Given the description of an element on the screen output the (x, y) to click on. 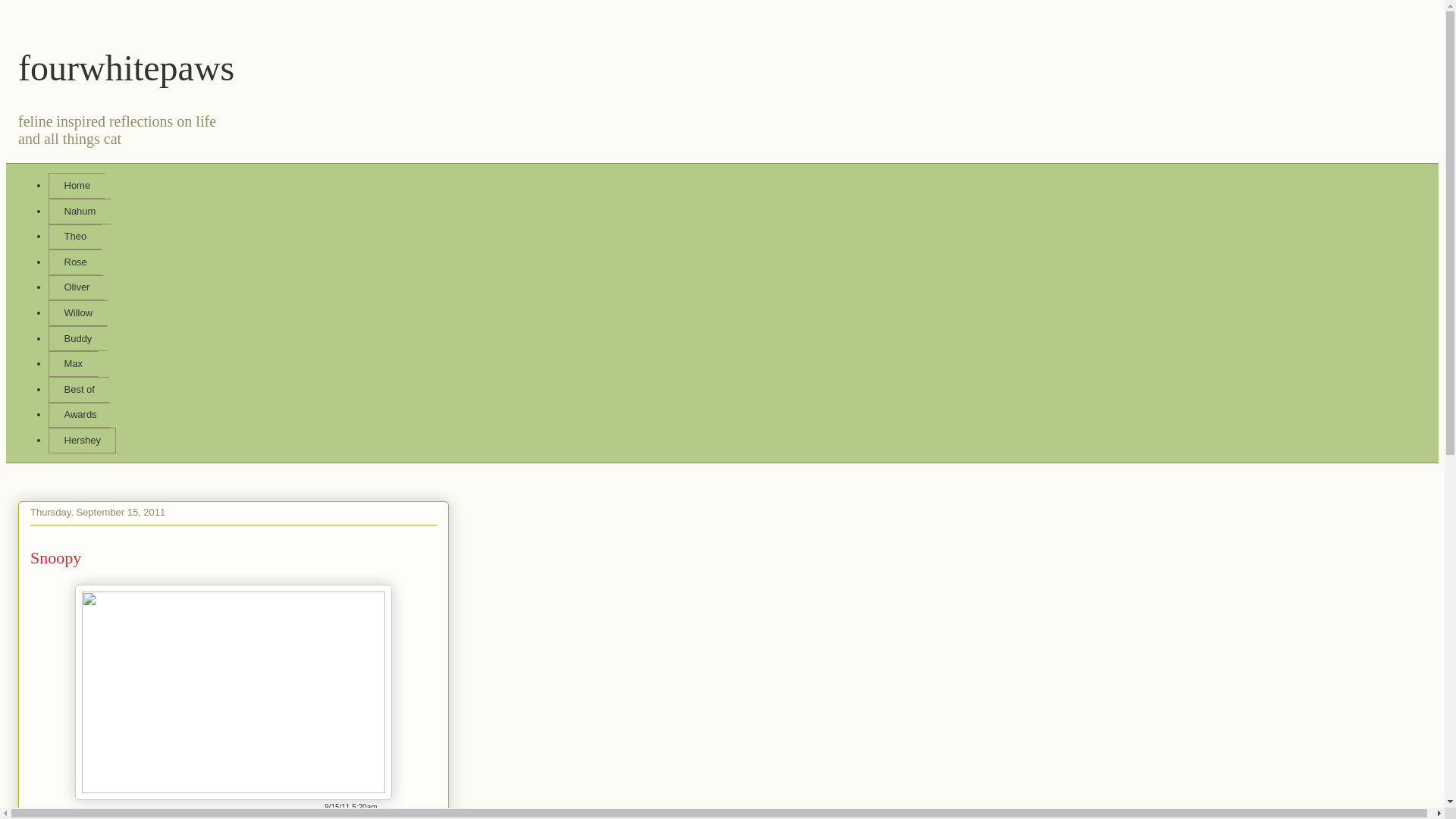
Home (76, 185)
Willow (77, 312)
Theo (74, 237)
fourwhitepaws (125, 67)
Oliver (76, 288)
Awards (80, 415)
Hershey (82, 440)
Max (72, 363)
Buddy (77, 338)
Nahum (79, 211)
